Given the description of an element on the screen output the (x, y) to click on. 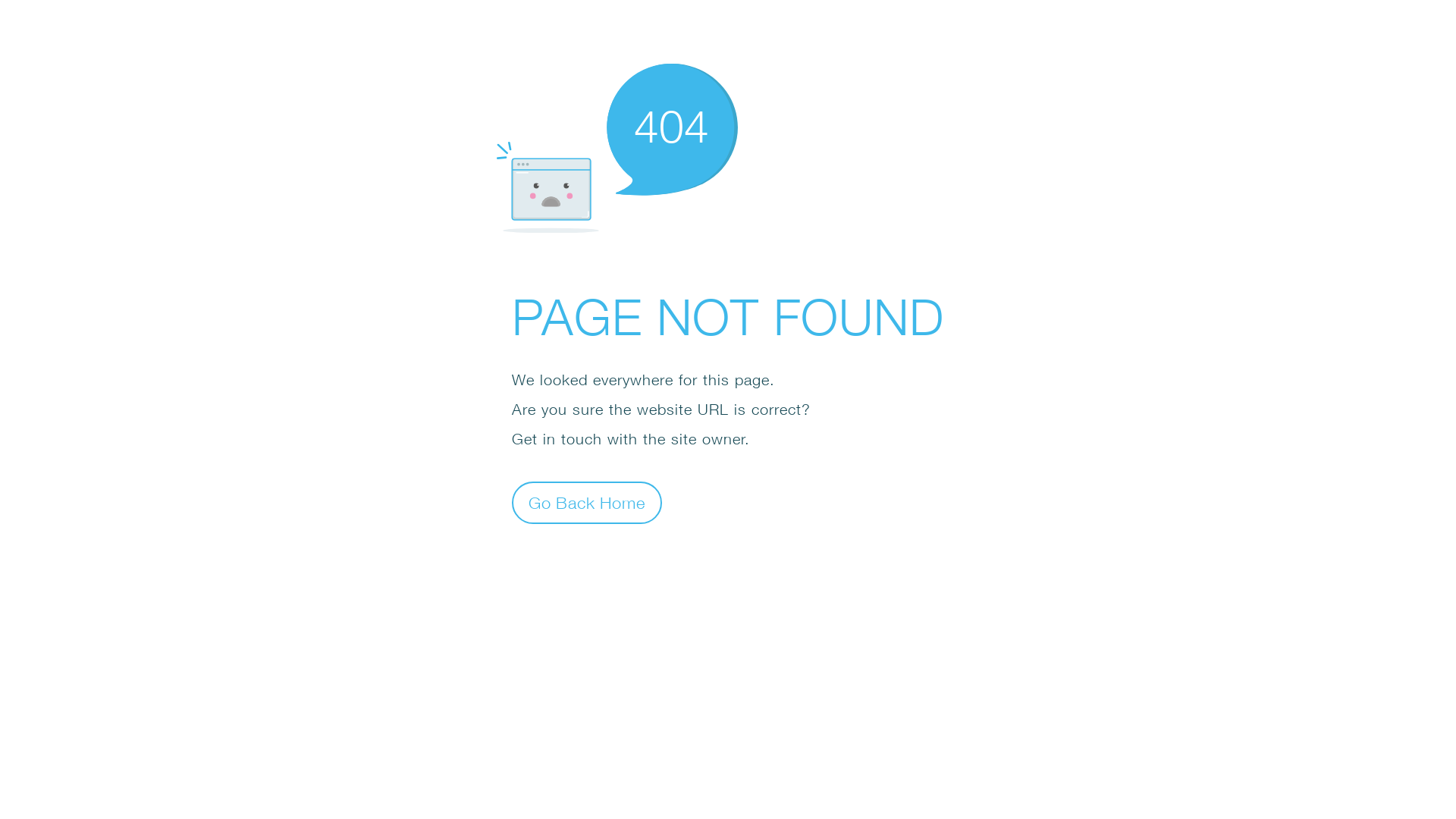
Go Back Home Element type: text (586, 502)
